Given the description of an element on the screen output the (x, y) to click on. 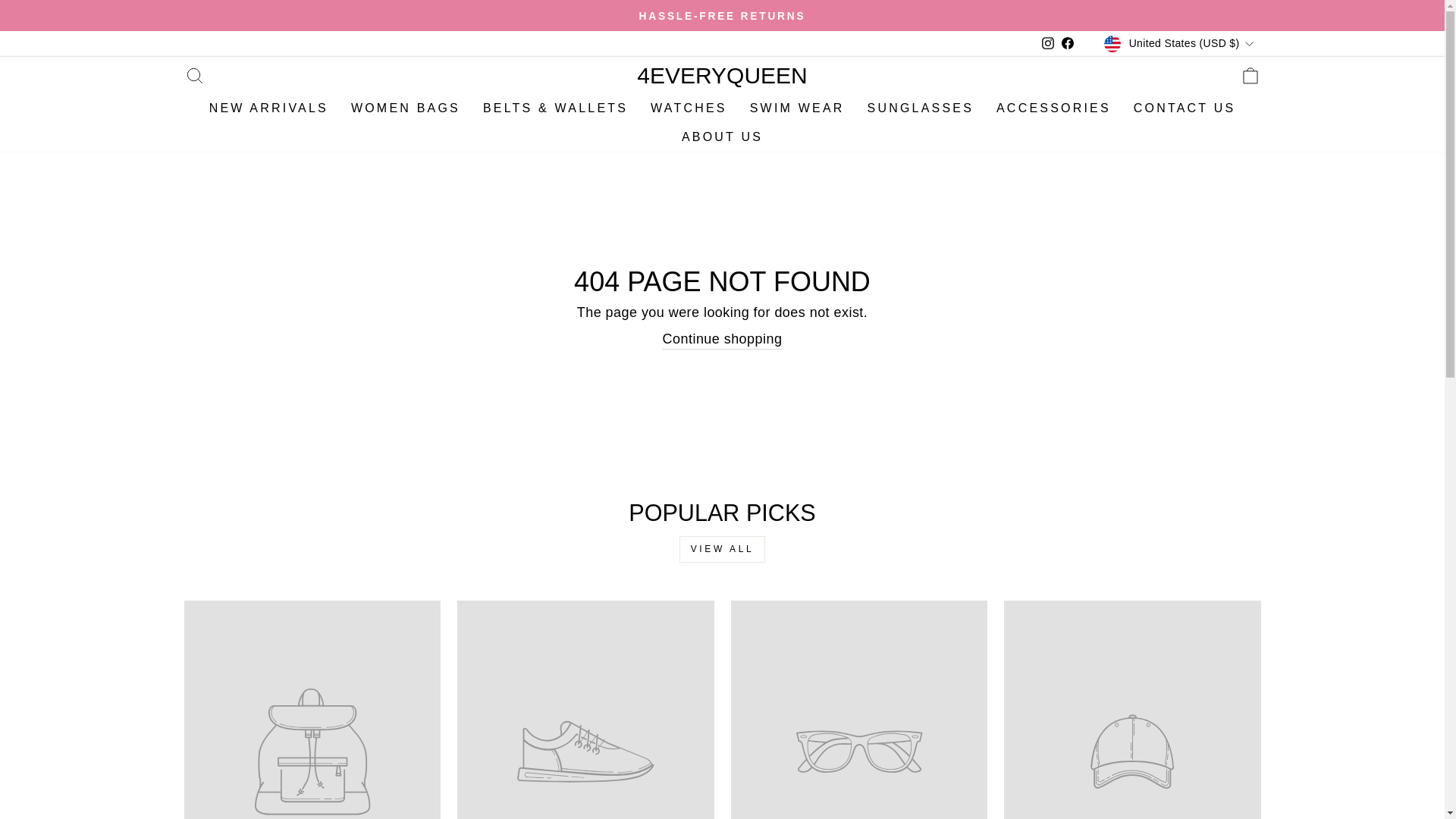
Instagram (1048, 43)
4everyqueen on Instagram (1048, 43)
4everyqueen on Facebook (1067, 43)
Facebook (1067, 43)
